Given the description of an element on the screen output the (x, y) to click on. 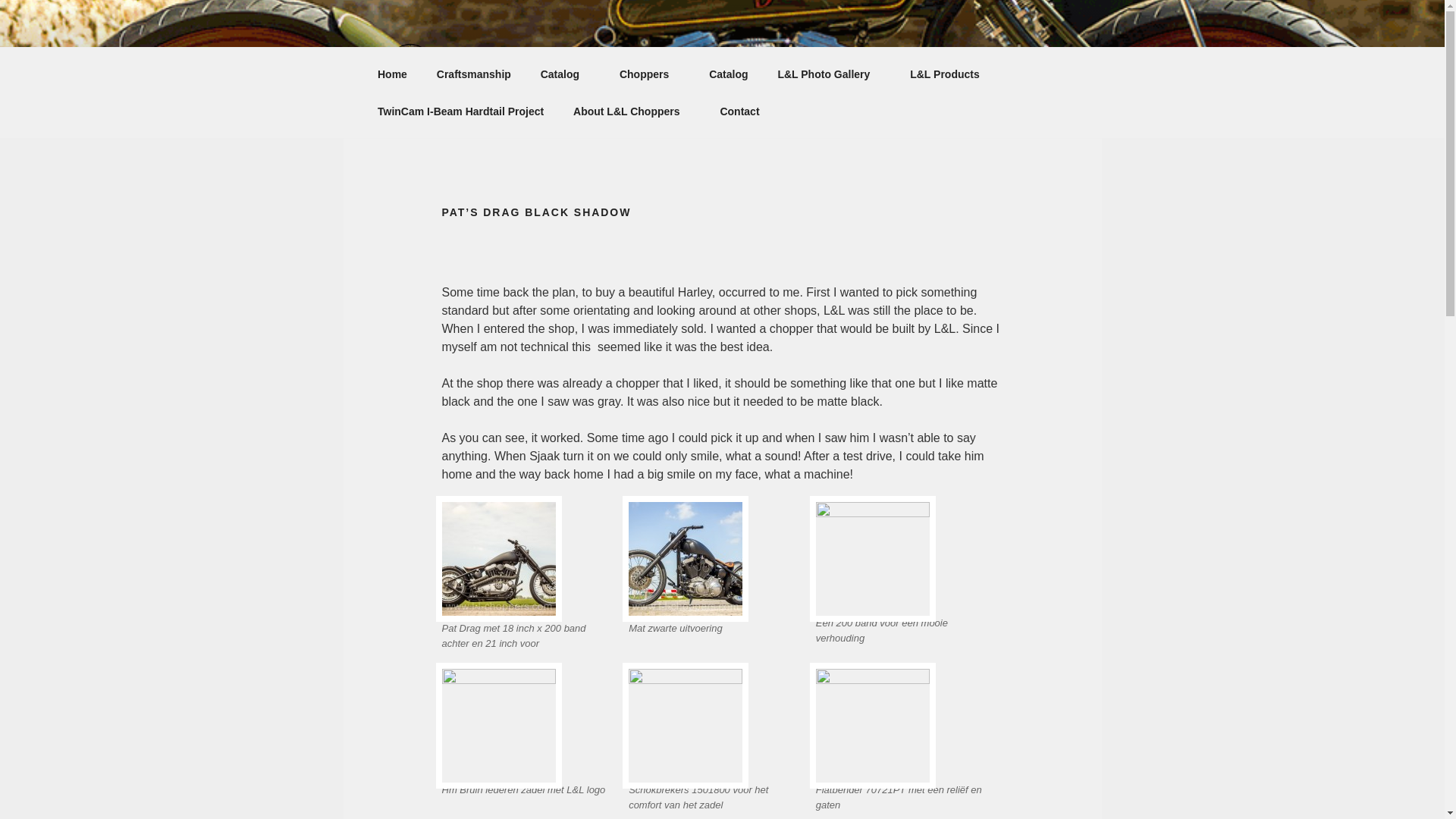
Home (392, 74)
Craftsmanship (473, 74)
Catalog (564, 74)
Choppers (649, 74)
Catalog (728, 74)
